Given the description of an element on the screen output the (x, y) to click on. 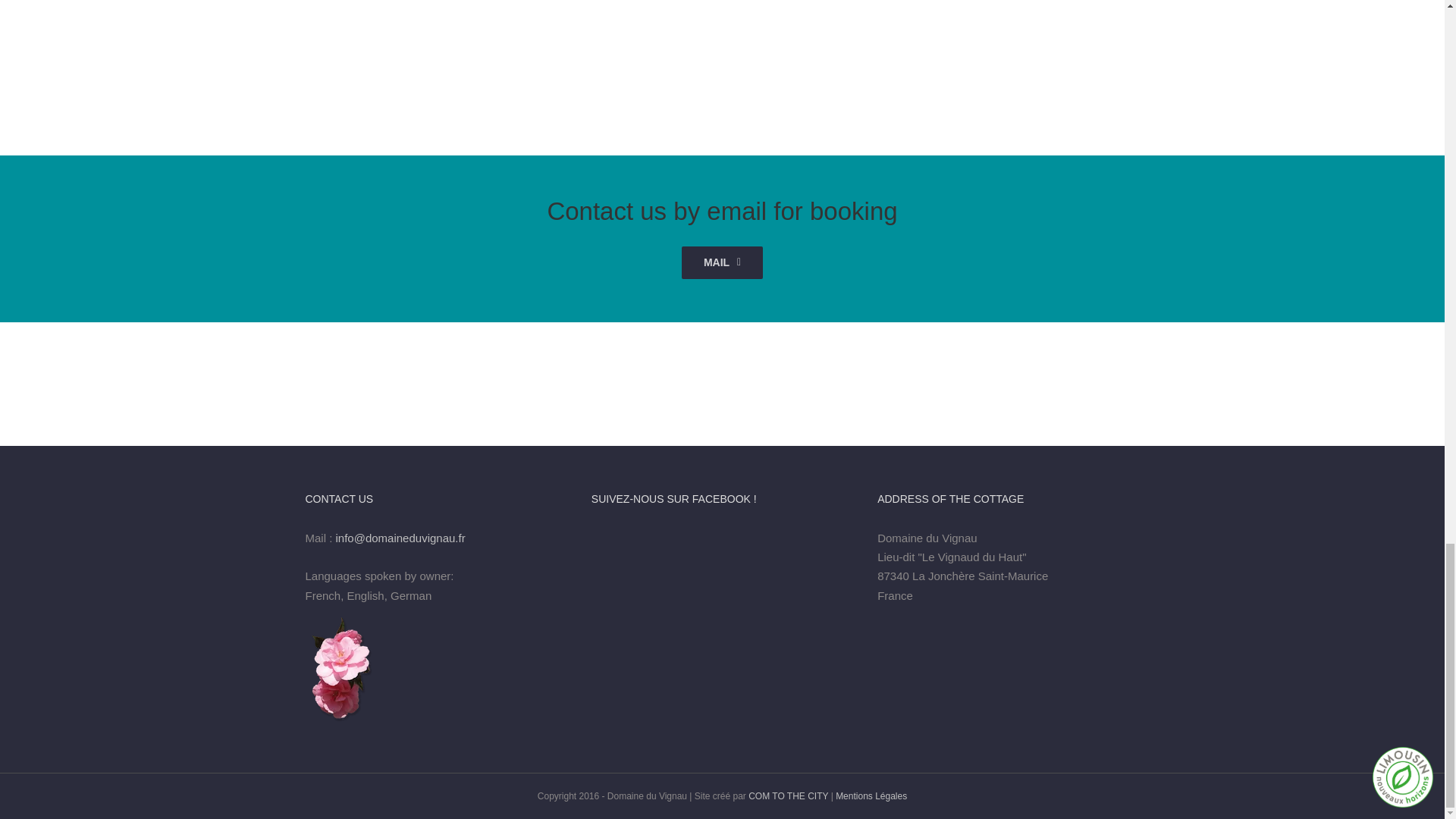
Image111 (722, 43)
erwan fiquet (1207, 43)
MAIL (721, 262)
